Given the description of an element on the screen output the (x, y) to click on. 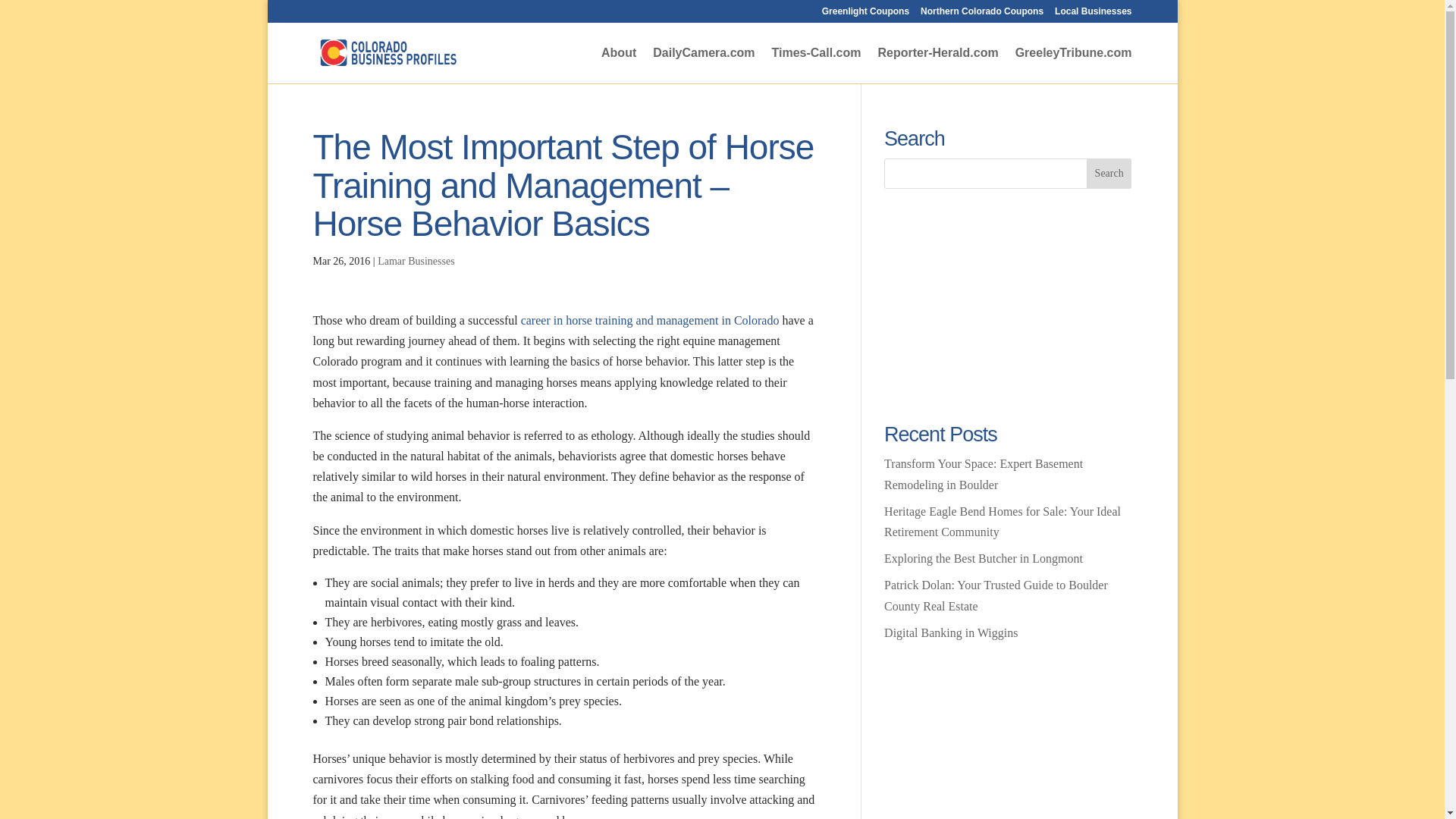
GreeleyTribune.com (1073, 65)
Search (1109, 173)
About (618, 65)
Transform Your Space: Expert Basement Remodeling in Boulder (983, 473)
Reporter-Herald.com (937, 65)
Local Businesses (1092, 14)
Digital Banking in Wiggins (950, 632)
Northern Colorado Coupons (981, 14)
DailyCamera.com (703, 65)
Search (1109, 173)
Lamar Businesses (415, 260)
Exploring the Best Butcher in Longmont (983, 558)
career in horse training and management in Colorado (649, 319)
